Given the description of an element on the screen output the (x, y) to click on. 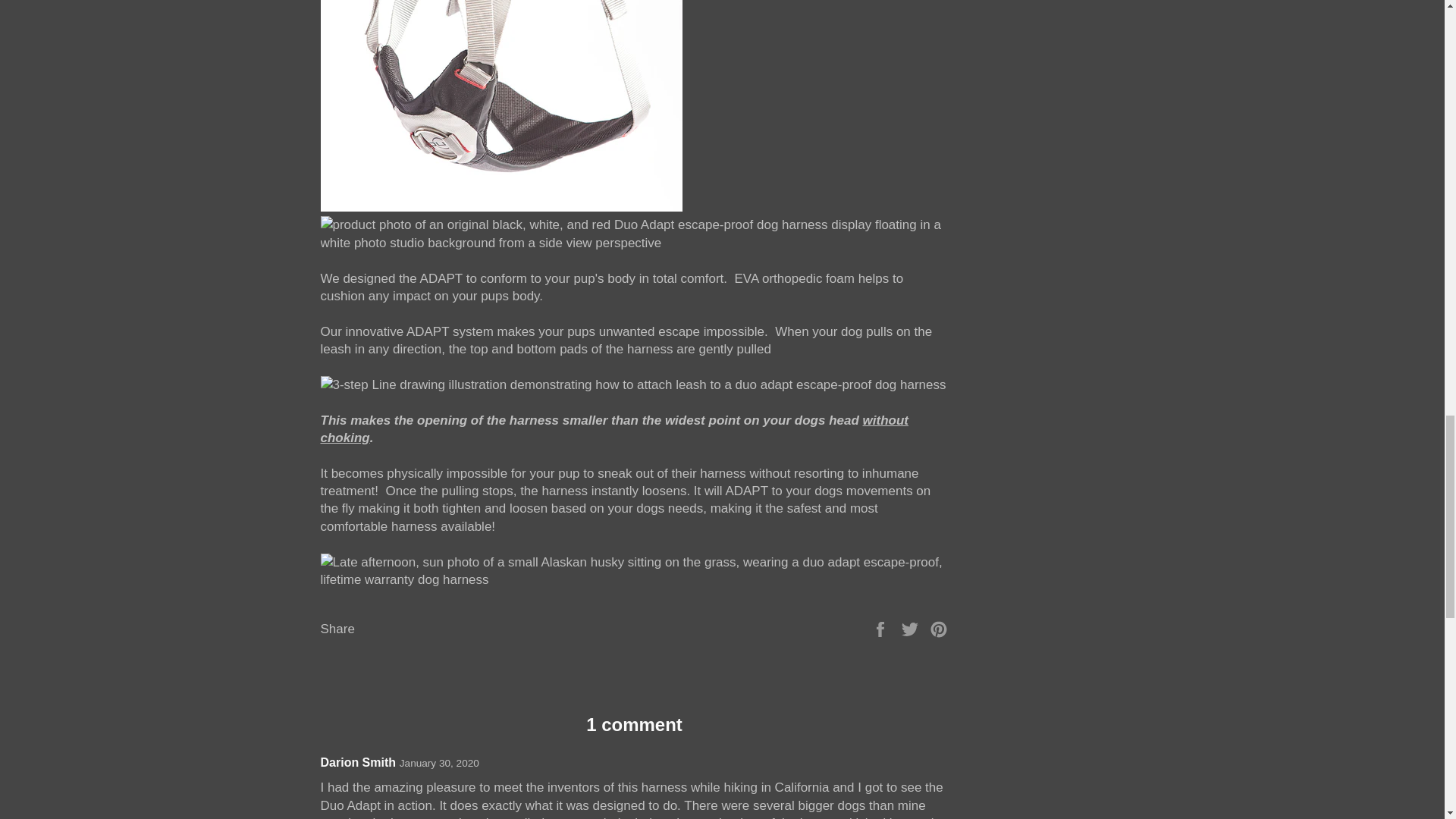
Tweet on Twitter (912, 780)
Tweet on Twitter (912, 780)
Pin on Pinterest (938, 780)
Share on Facebook (881, 780)
Pin on Pinterest (938, 780)
Share on Facebook (881, 780)
